Given the description of an element on the screen output the (x, y) to click on. 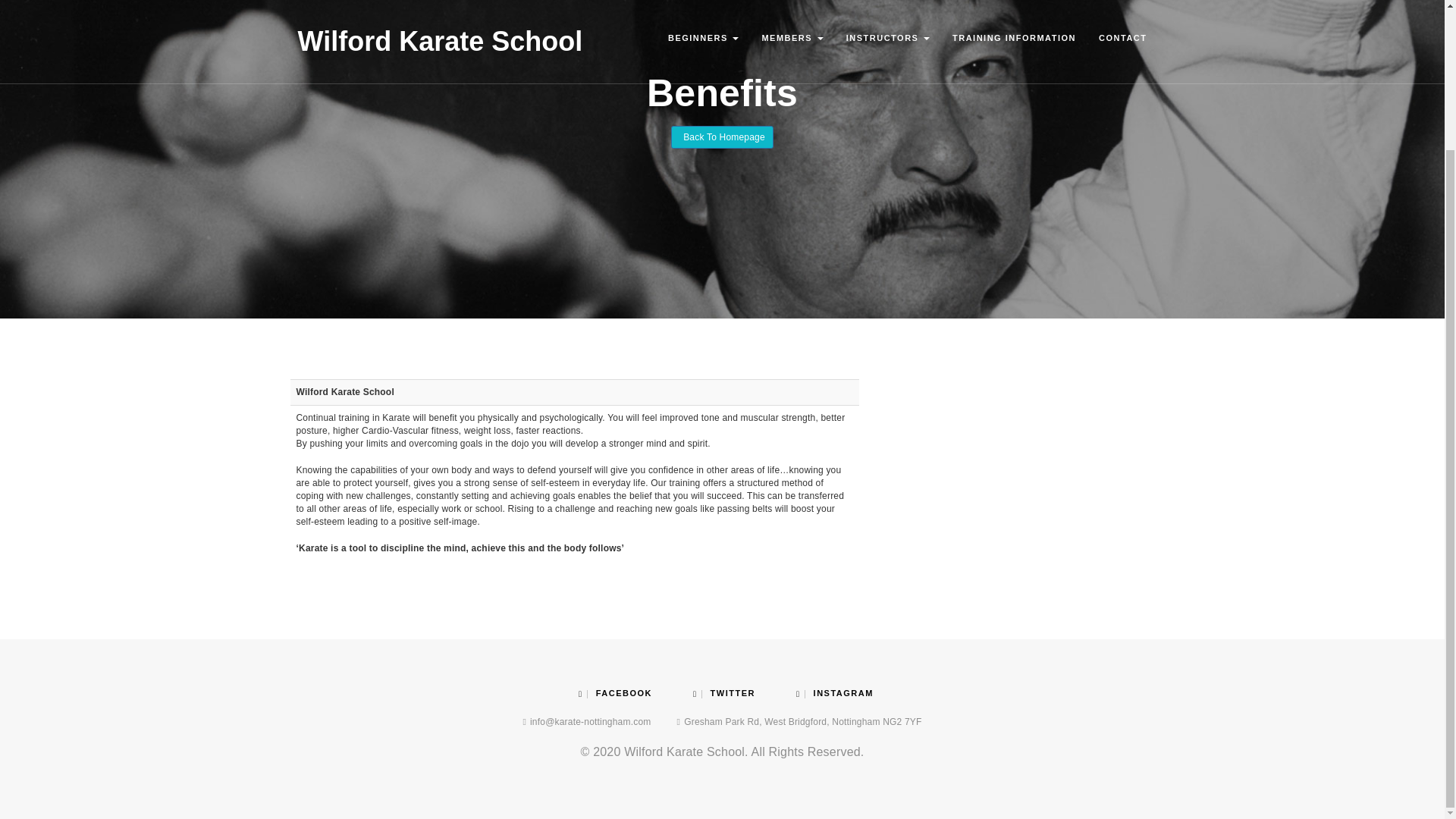
FACEBOOK (615, 692)
INSTAGRAM (834, 692)
TWITTER (724, 692)
Back To Homepage (722, 137)
